Given the description of an element on the screen output the (x, y) to click on. 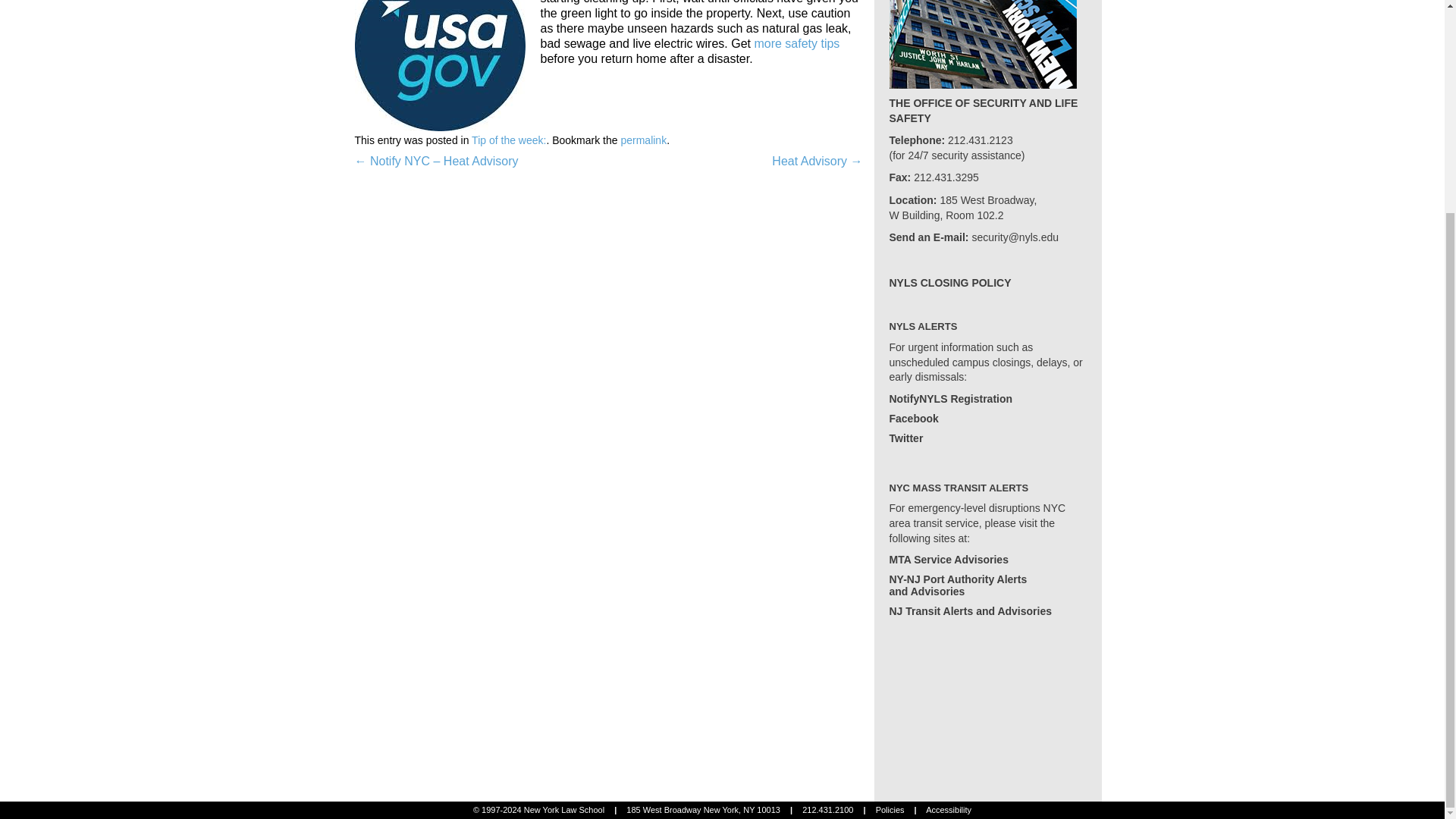
Accessibility (948, 809)
NotifyNYLS Registration (949, 398)
more safety tips (797, 42)
NJ Transit Alerts and Advisories (969, 611)
Policies (957, 585)
Twitter (890, 809)
MTA Service Advisories (905, 438)
Tip of the week: (947, 559)
Facebook (508, 140)
Policies (912, 418)
permalink (890, 809)
NYLS CLOSING POLICY (643, 140)
